Given the description of an element on the screen output the (x, y) to click on. 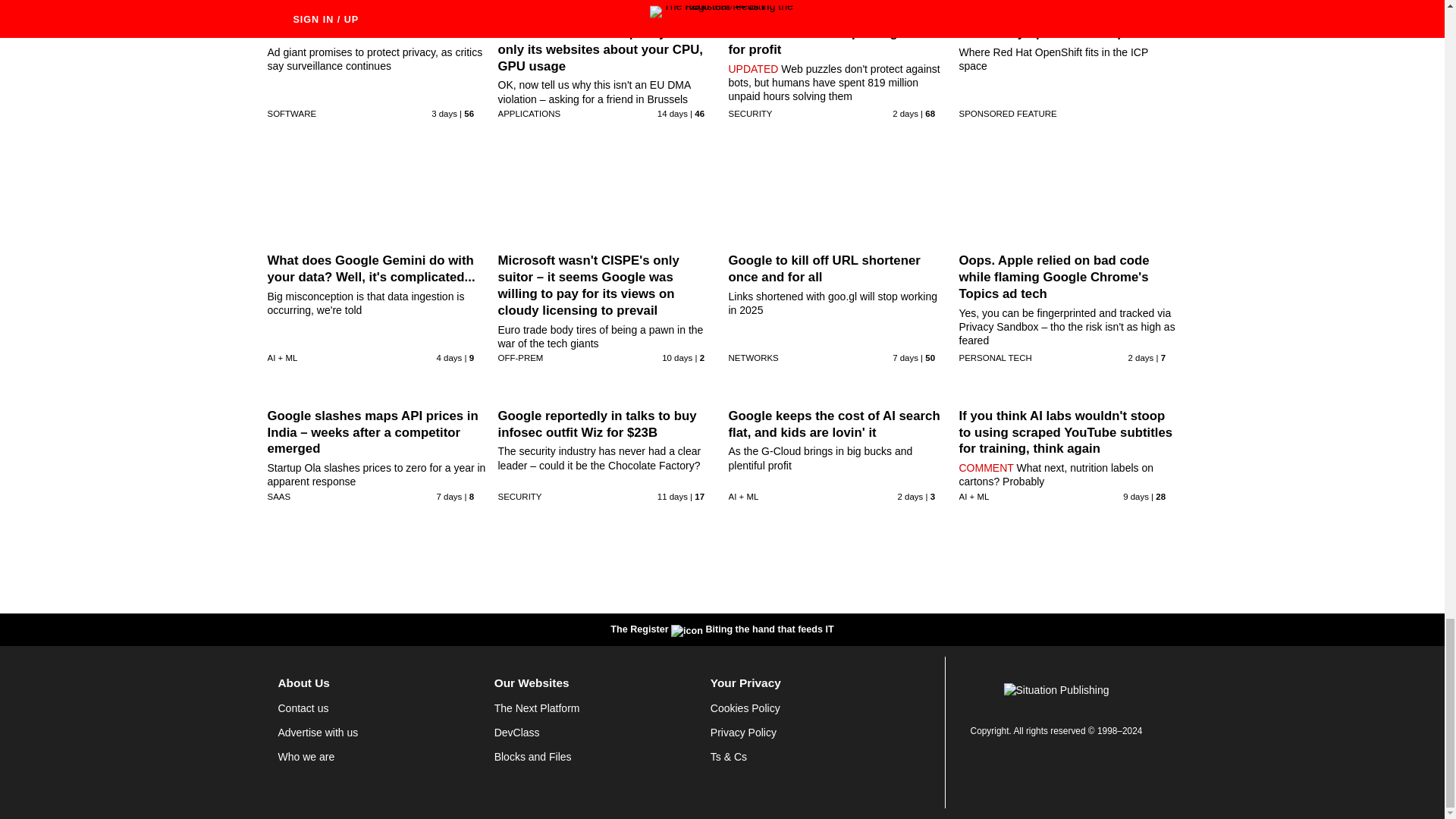
19 Jul 2024 13:29 (905, 357)
24 Jul 2024 6:33 (905, 112)
12 Jul 2024 10:28 (672, 112)
22 Jul 2024 19:15 (449, 357)
23 Jul 2024 0:3 (443, 112)
24 Jul 2024 20:44 (1141, 357)
16 Jul 2024 4:1 (677, 357)
